Given the description of an element on the screen output the (x, y) to click on. 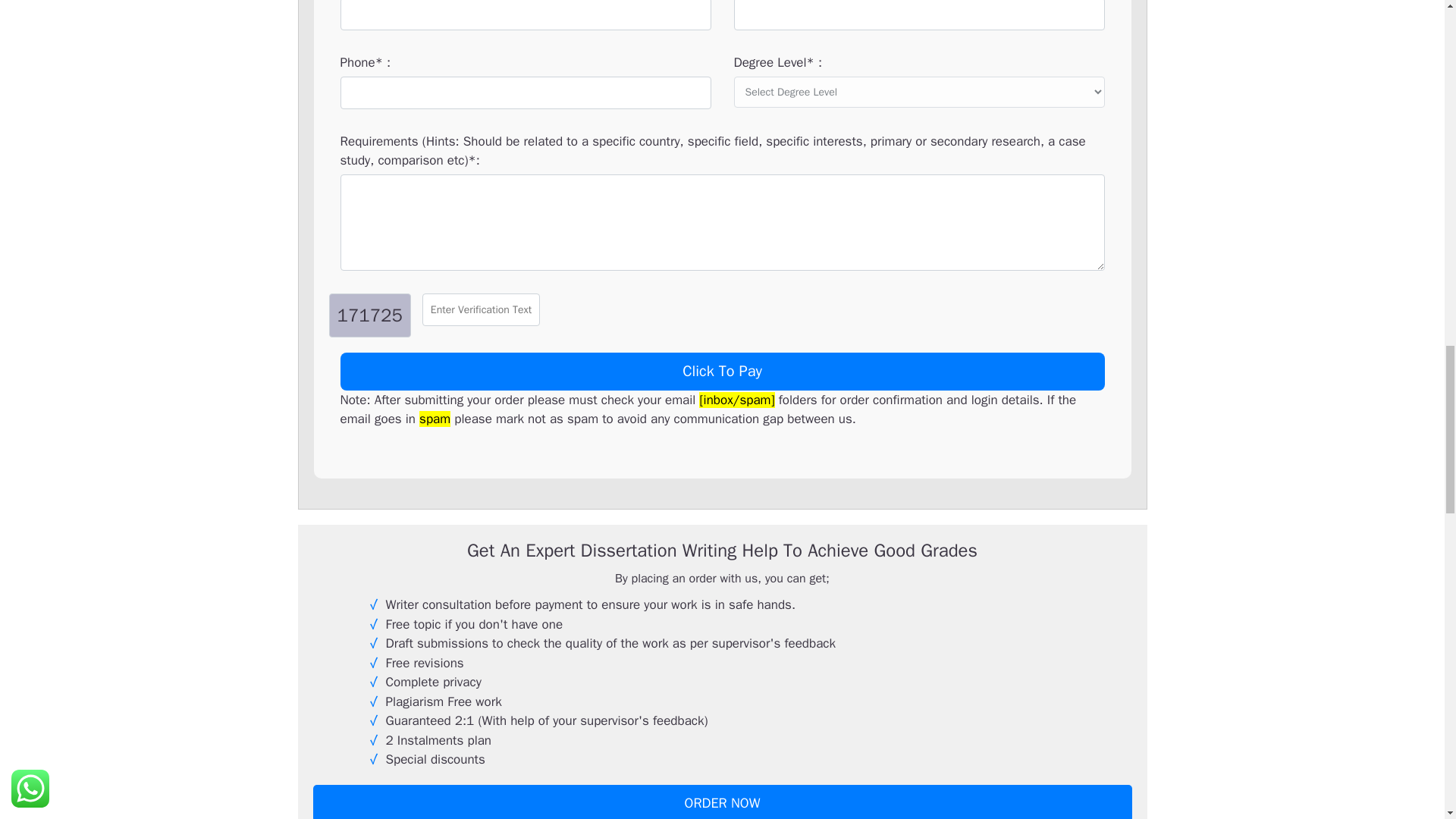
ORDER NOW (722, 801)
Click To Pay (721, 371)
Click To Pay (721, 371)
